Given the description of an element on the screen output the (x, y) to click on. 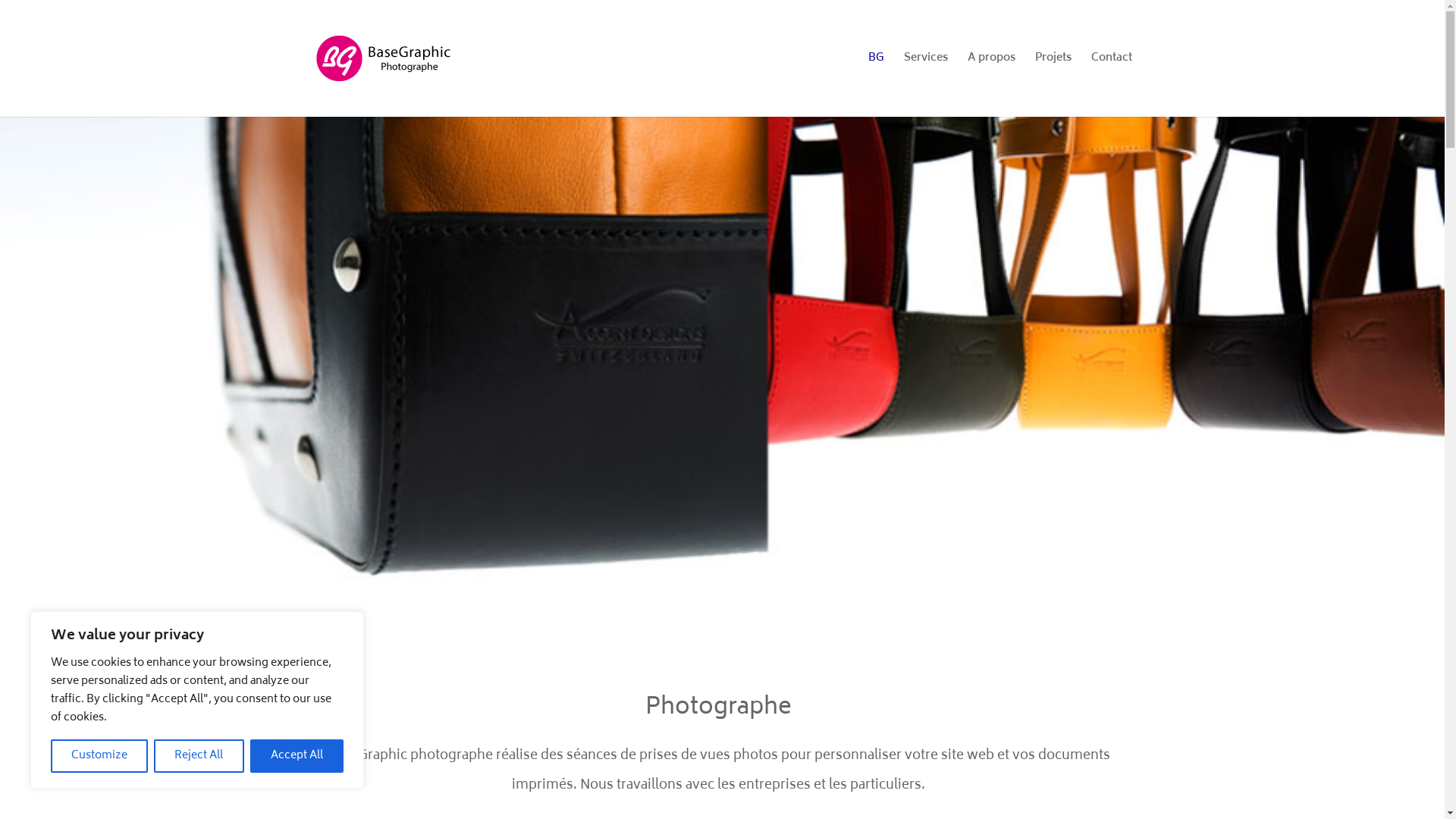
BG Element type: text (875, 84)
Projets Element type: text (1052, 84)
Customize Element type: text (98, 755)
A propos Element type: text (991, 84)
slide-1 Element type: hover (722, 377)
Contact Element type: text (1110, 84)
Accept All Element type: text (296, 755)
Services Element type: text (925, 84)
Reject All Element type: text (198, 755)
